Given the description of an element on the screen output the (x, y) to click on. 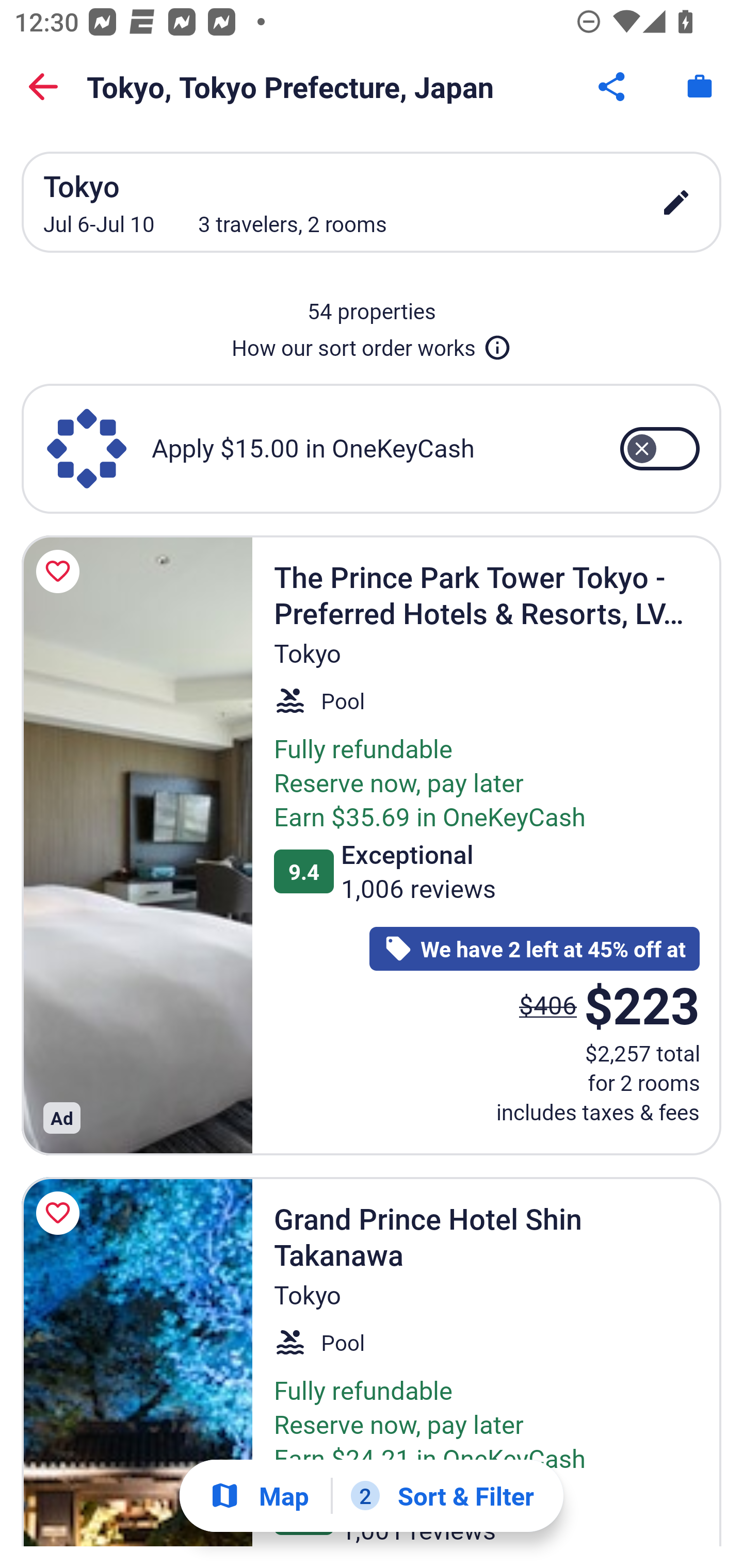
Back (43, 86)
Share Button (612, 86)
Trips. Button (699, 86)
Tokyo Jul 6-Jul 10 3 travelers, 2 rooms edit (371, 202)
How our sort order works (371, 344)
$406 The price was $406 (547, 1004)
Save Grand Prince Hotel Shin Takanawa to a trip (61, 1212)
Grand Prince Hotel Shin Takanawa (136, 1361)
2 Sort & Filter 2 Filters applied. Filters Button (442, 1495)
Show map Map Show map Button (258, 1495)
